Given the description of an element on the screen output the (x, y) to click on. 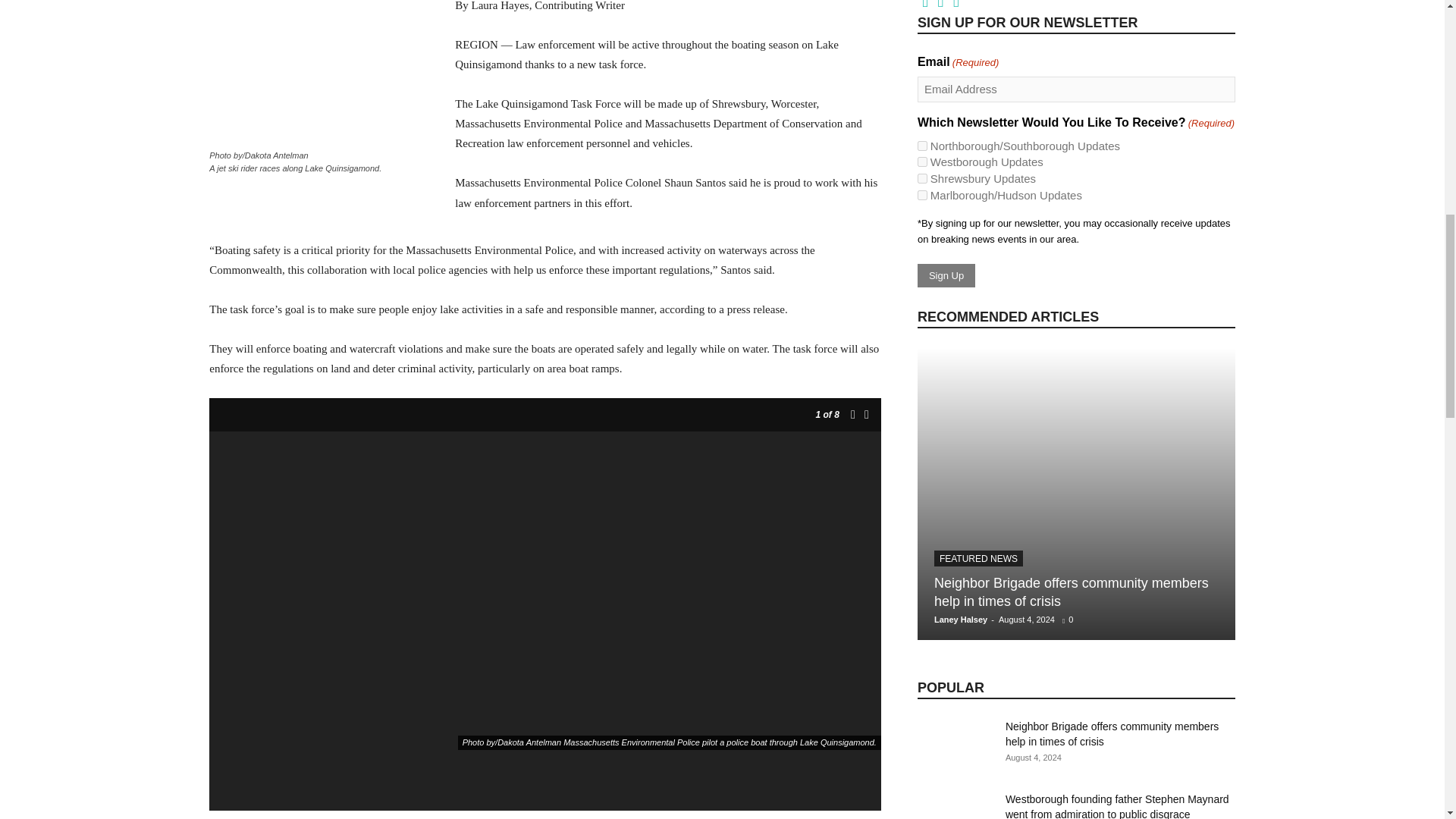
Sign Up (946, 275)
Shrewsbury Updates (922, 178)
Westborough Updates (922, 162)
